Given the description of an element on the screen output the (x, y) to click on. 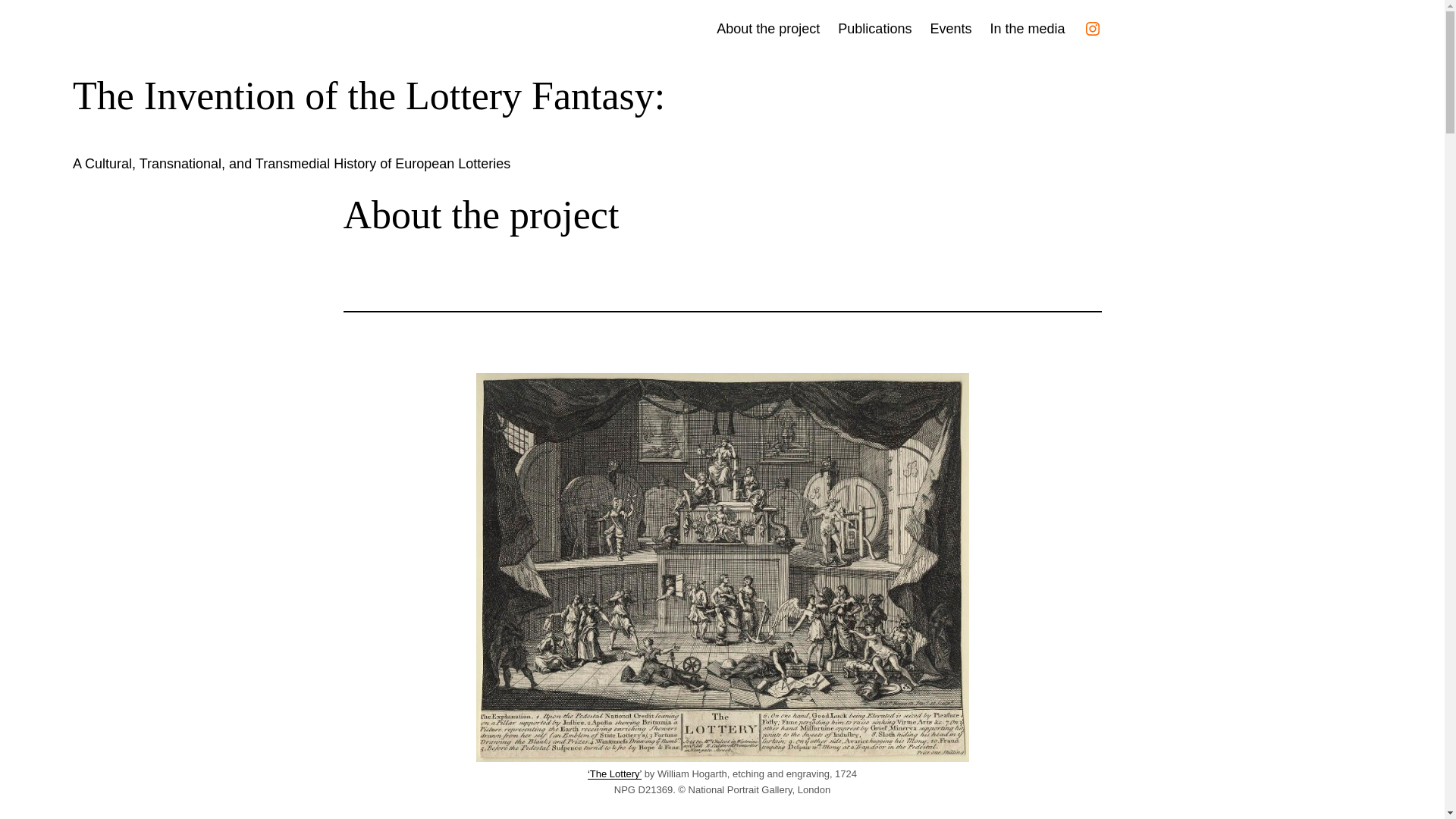
Publications (874, 29)
About the project (767, 29)
In the media (1027, 29)
Events (950, 29)
Instagram (1091, 28)
